Given the description of an element on the screen output the (x, y) to click on. 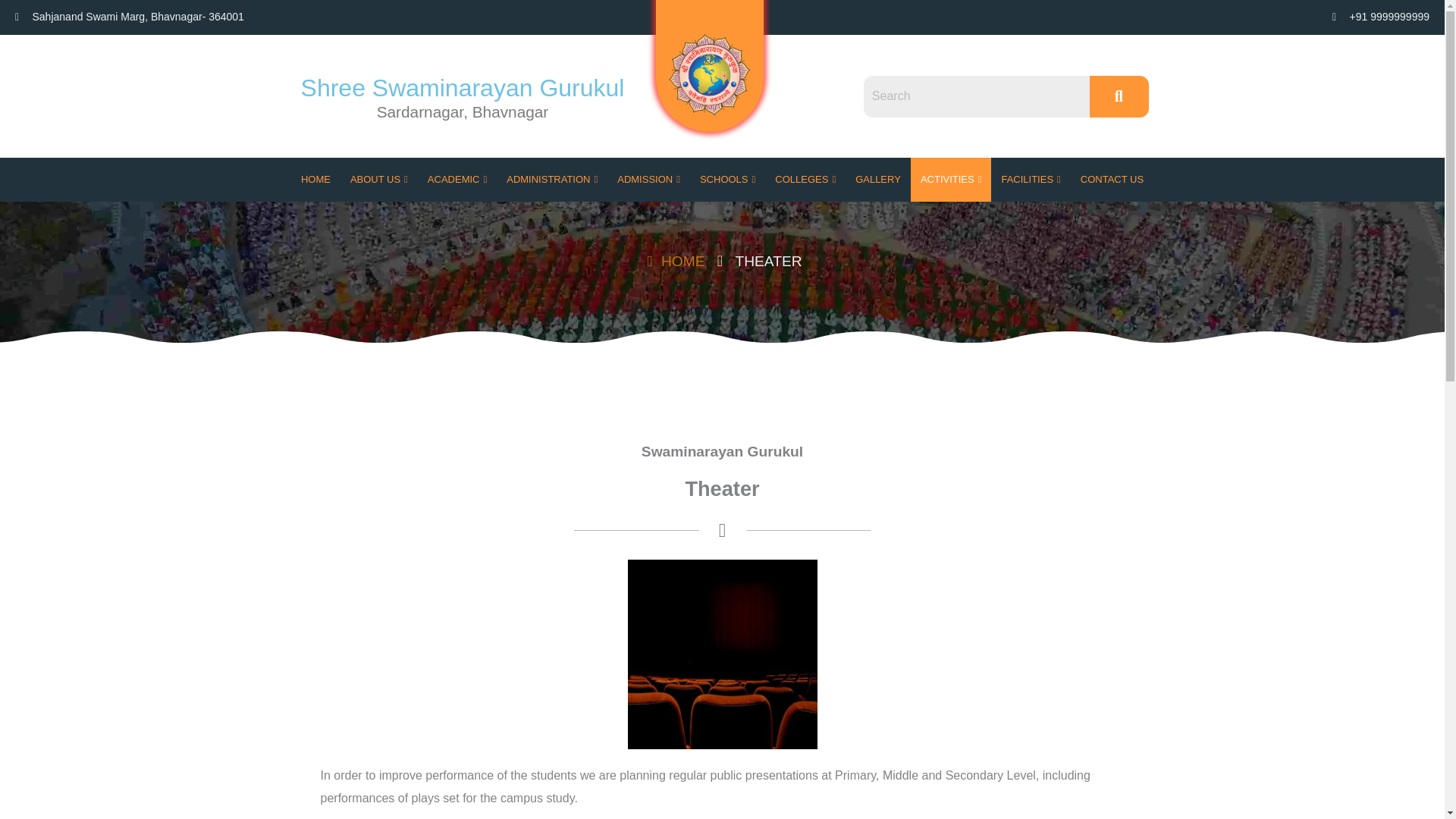
HOME (315, 179)
Search (976, 96)
ADMINISTRATION (551, 179)
Shree Swaminarayan Gurukul (462, 87)
ADMISSION (648, 179)
SCHOOLS (727, 179)
ABOUT US (378, 179)
Theater (768, 261)
Home (673, 261)
ACADEMIC (456, 179)
